Given the description of an element on the screen output the (x, y) to click on. 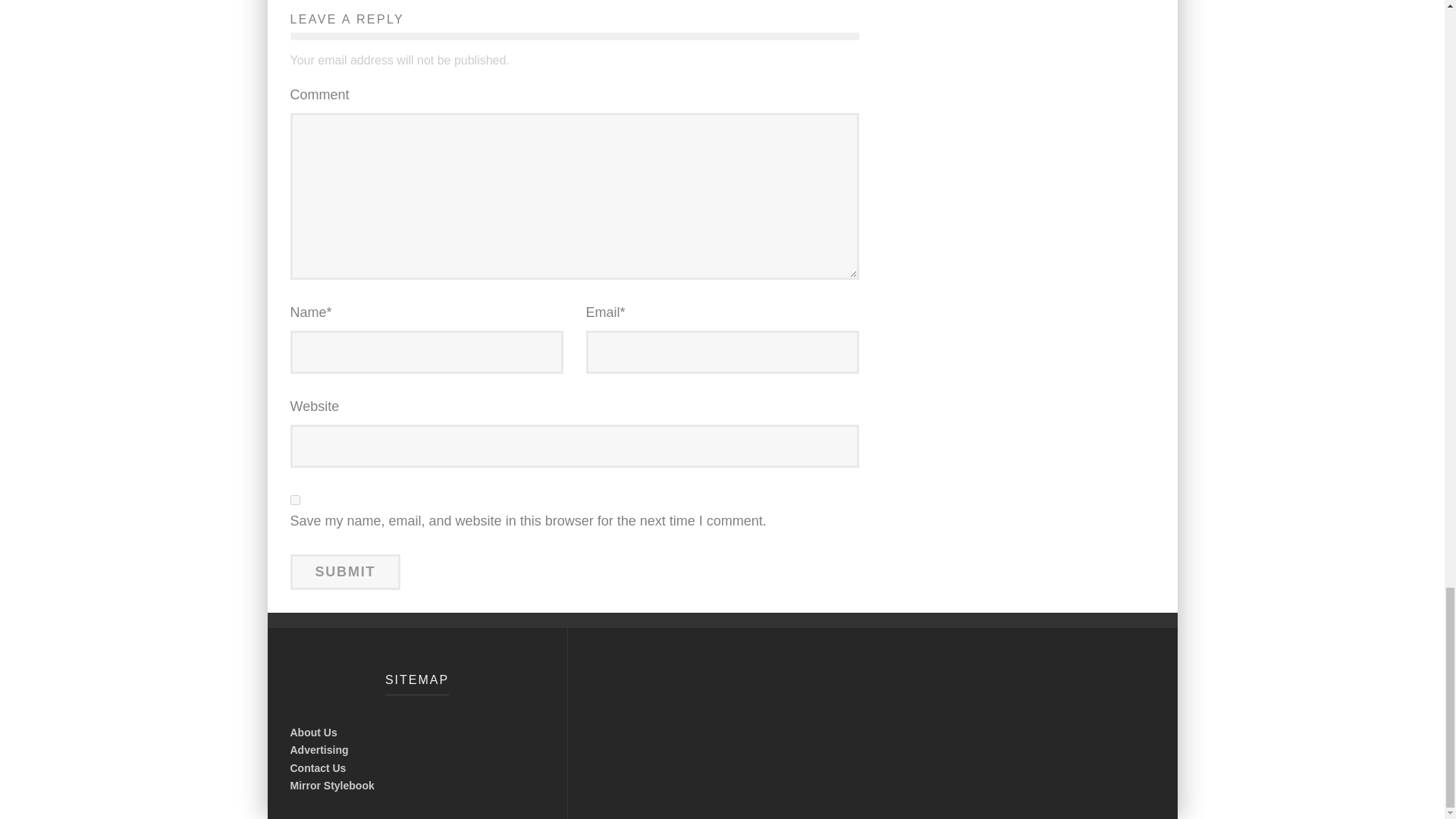
Submit (344, 571)
yes (294, 500)
